Given the description of an element on the screen output the (x, y) to click on. 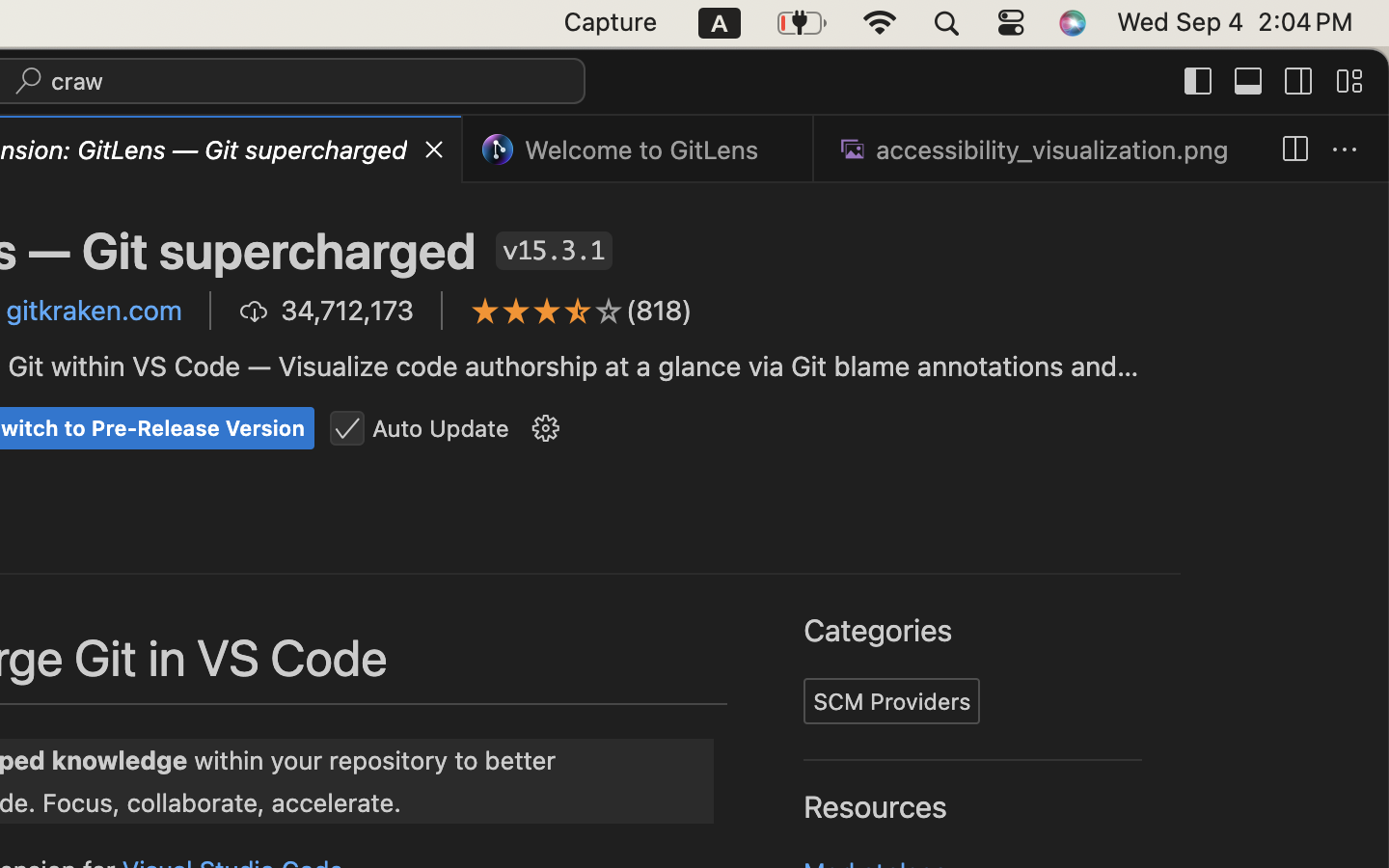
 Element type: AXButton (1294, 150)
Tutorial Video Element type: AXStaticText (818, 681)
 Element type: AXButton (433, 150)
 Element type: AXStaticText (875, 562)
34,712,173  Element type: AXGroup (326, 310)
